Given the description of an element on the screen output the (x, y) to click on. 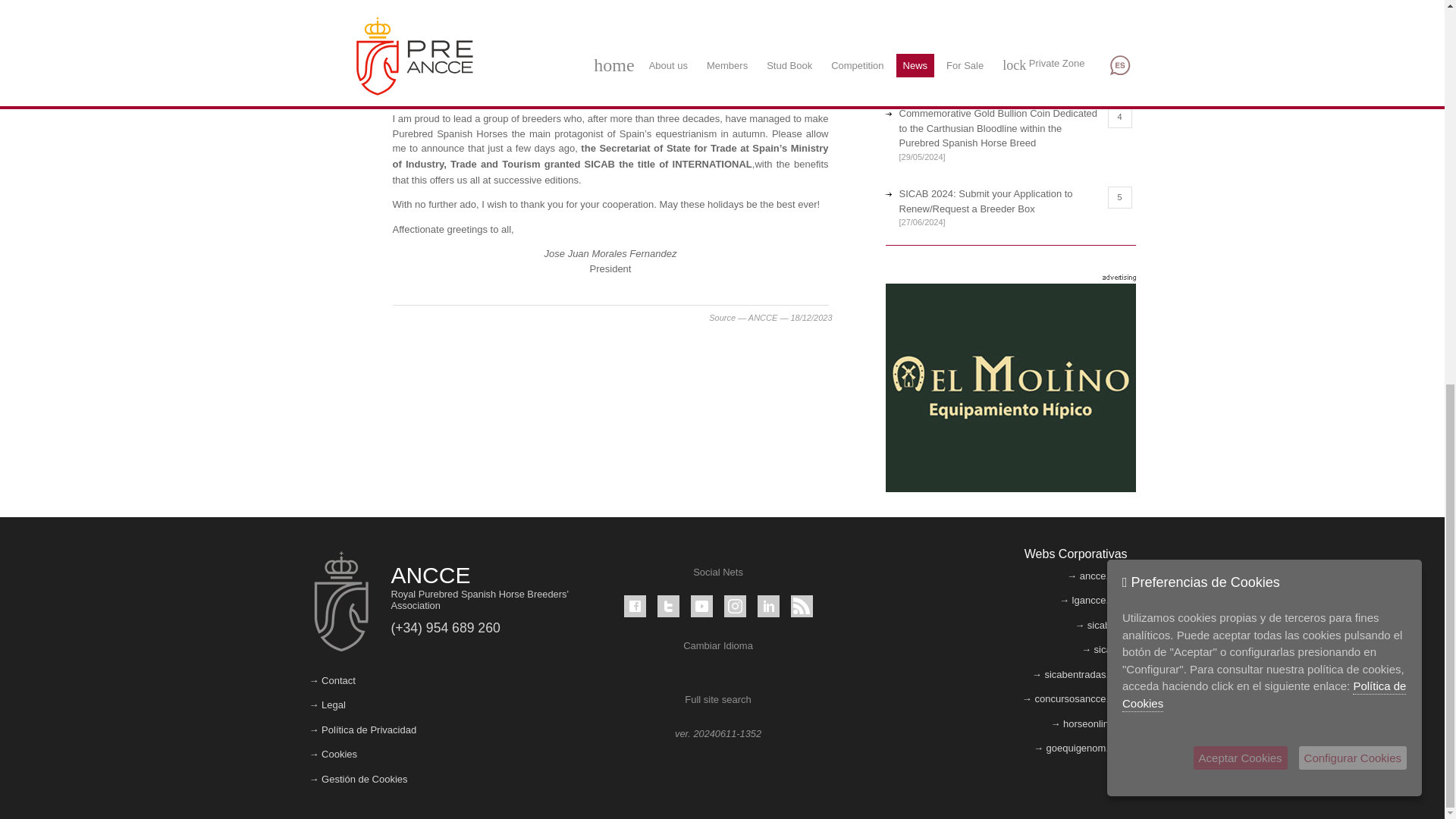
ANCCE en twitter (668, 606)
Linkedin de ANCCE (767, 606)
ANCCE en youtube (701, 606)
Instagram de ANCCE (734, 606)
RSS de ANCCE (801, 606)
ANCCE en Facebook (635, 606)
